Given the description of an element on the screen output the (x, y) to click on. 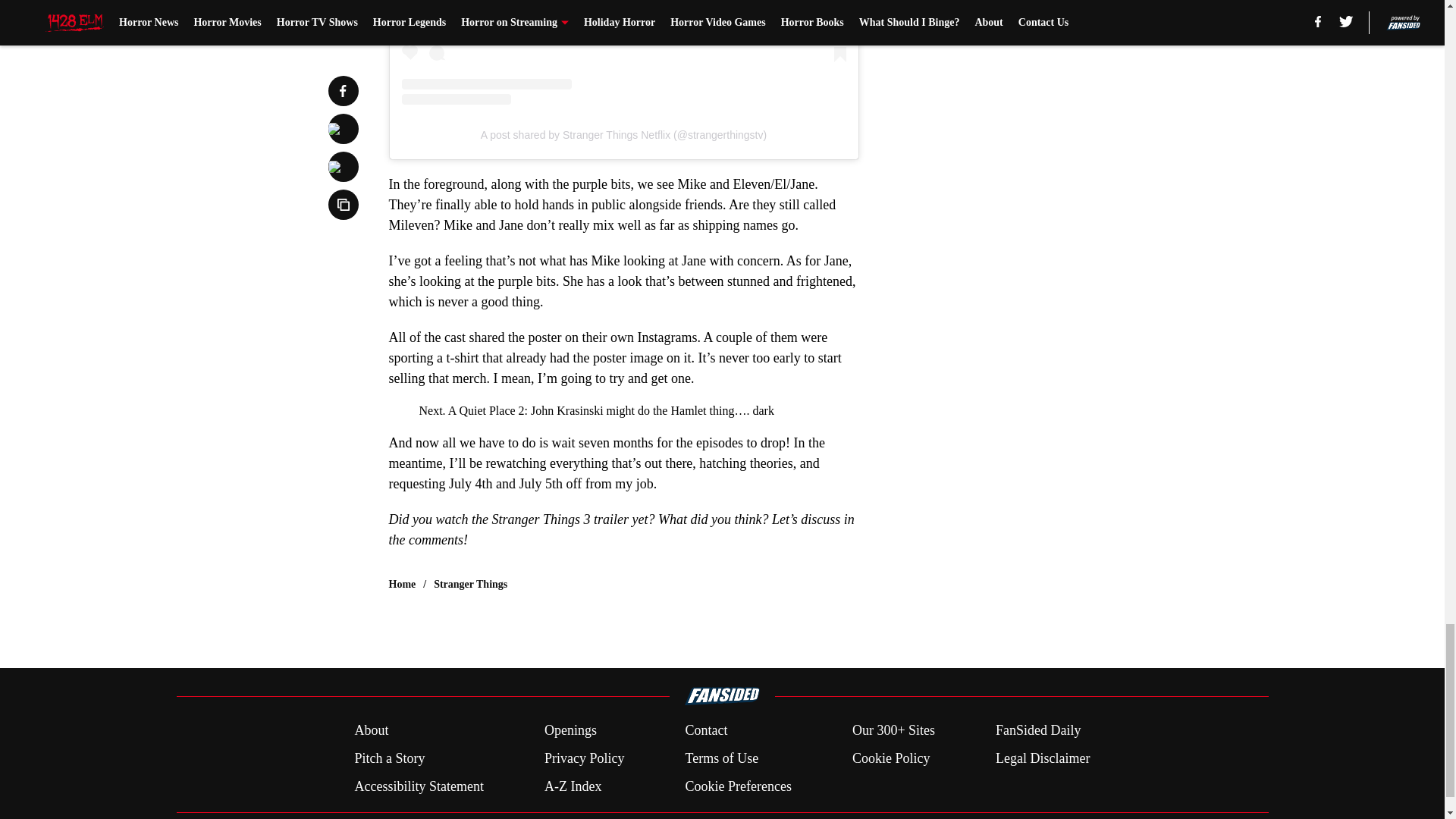
About (370, 730)
View this post on Instagram (623, 52)
Contact (705, 730)
Openings (570, 730)
Home (401, 584)
Stranger Things (469, 584)
